Given the description of an element on the screen output the (x, y) to click on. 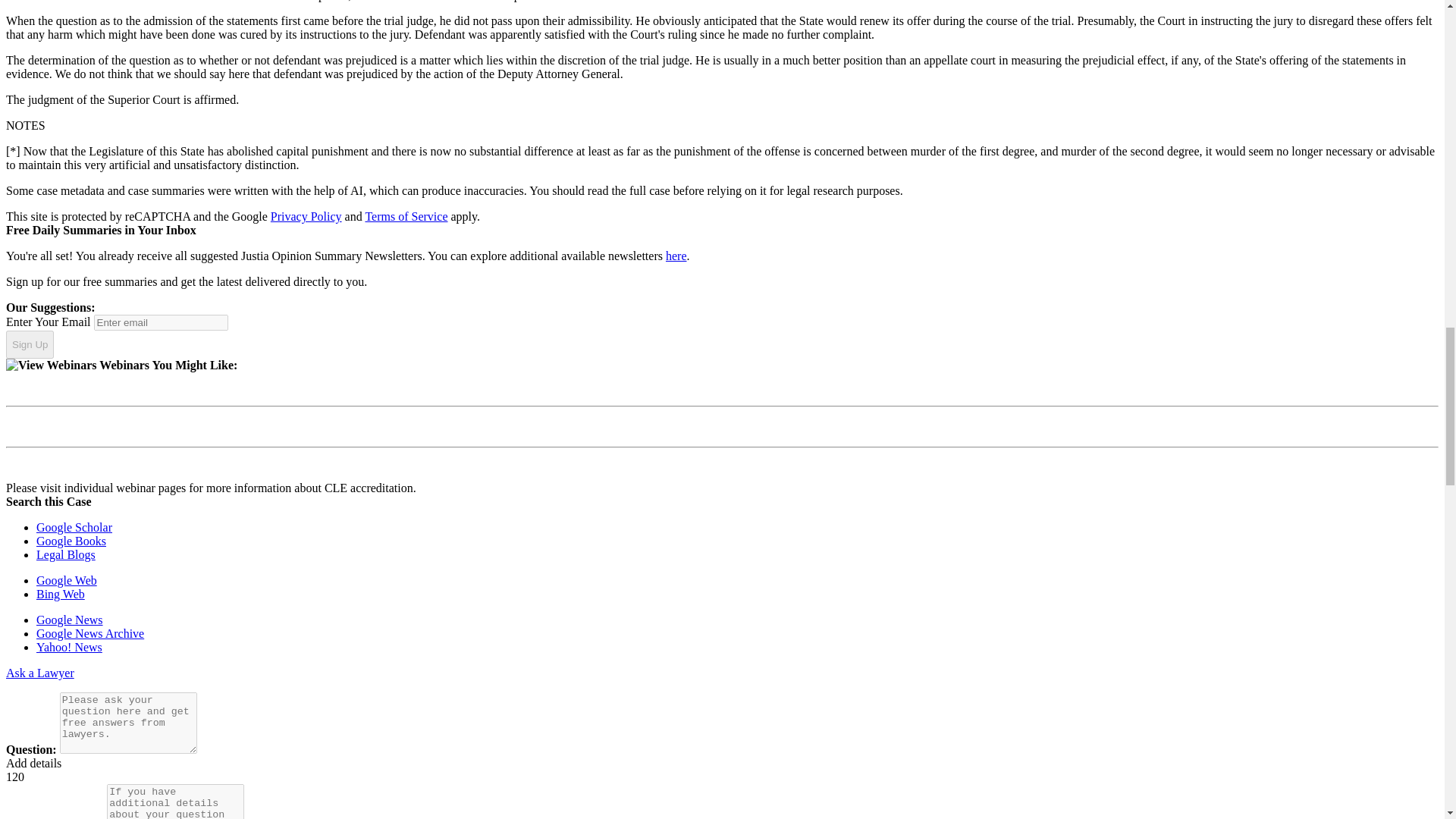
Enter email (161, 322)
Law - Legal Blogs (66, 554)
Law - Bing Web (60, 594)
Law - Google Books (71, 540)
Law - Google News Archive (90, 633)
Law - Google Scholar (74, 526)
Law - Google News (69, 619)
here (676, 255)
Sign Up (29, 344)
Law - Yahoo! News (68, 646)
Terms of Service (405, 215)
Privacy Policy (306, 215)
Law - Google Web (66, 580)
Sign Up (29, 344)
